Given the description of an element on the screen output the (x, y) to click on. 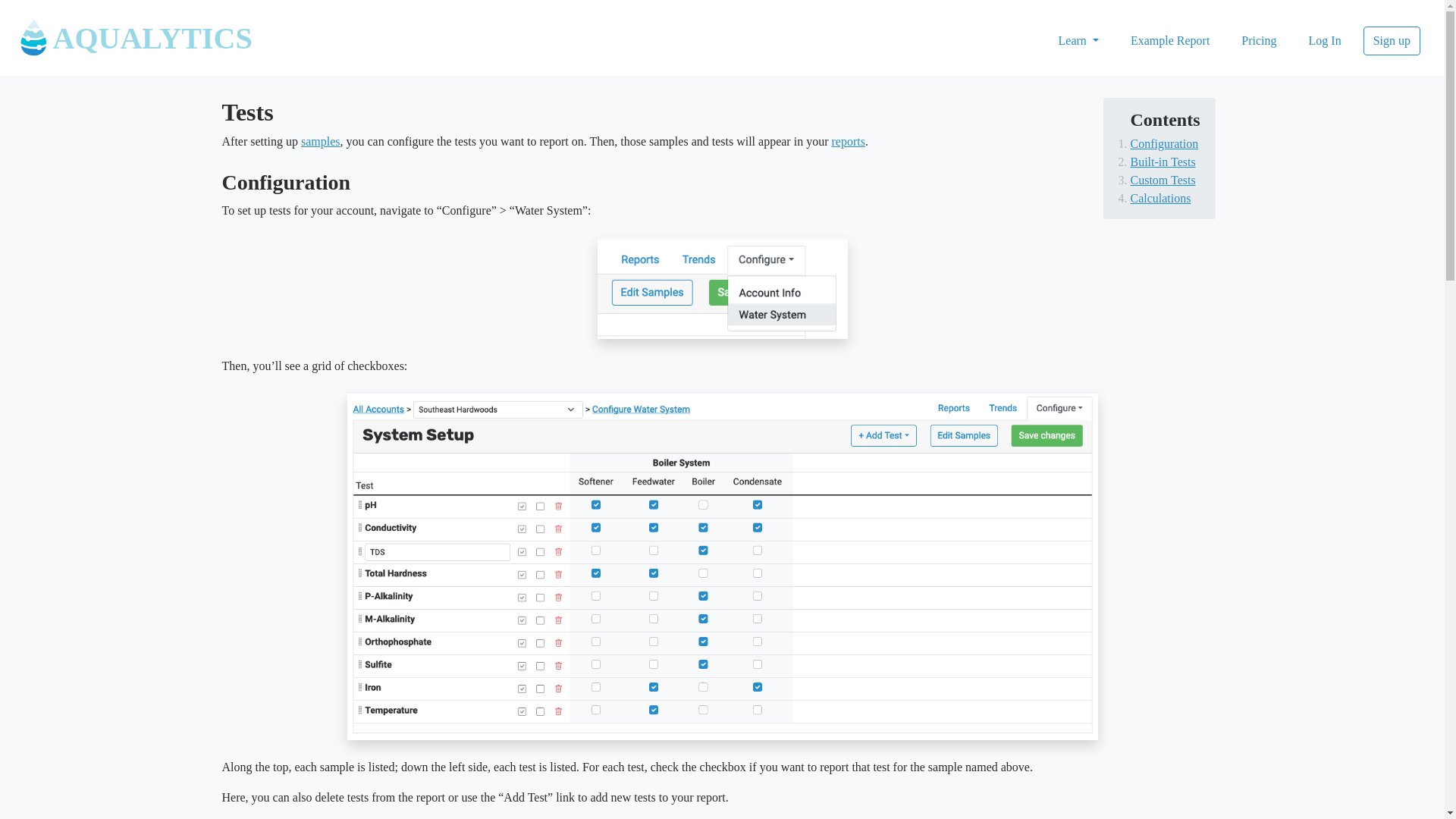
Log In (1324, 40)
Example Report (1170, 40)
Calculations (1160, 197)
AQUALYTICS (119, 40)
reports (847, 141)
Built-in Tests (1162, 161)
Sign up (1391, 40)
Configuration (1163, 143)
Learn (1078, 40)
Pricing (1258, 40)
